Given the description of an element on the screen output the (x, y) to click on. 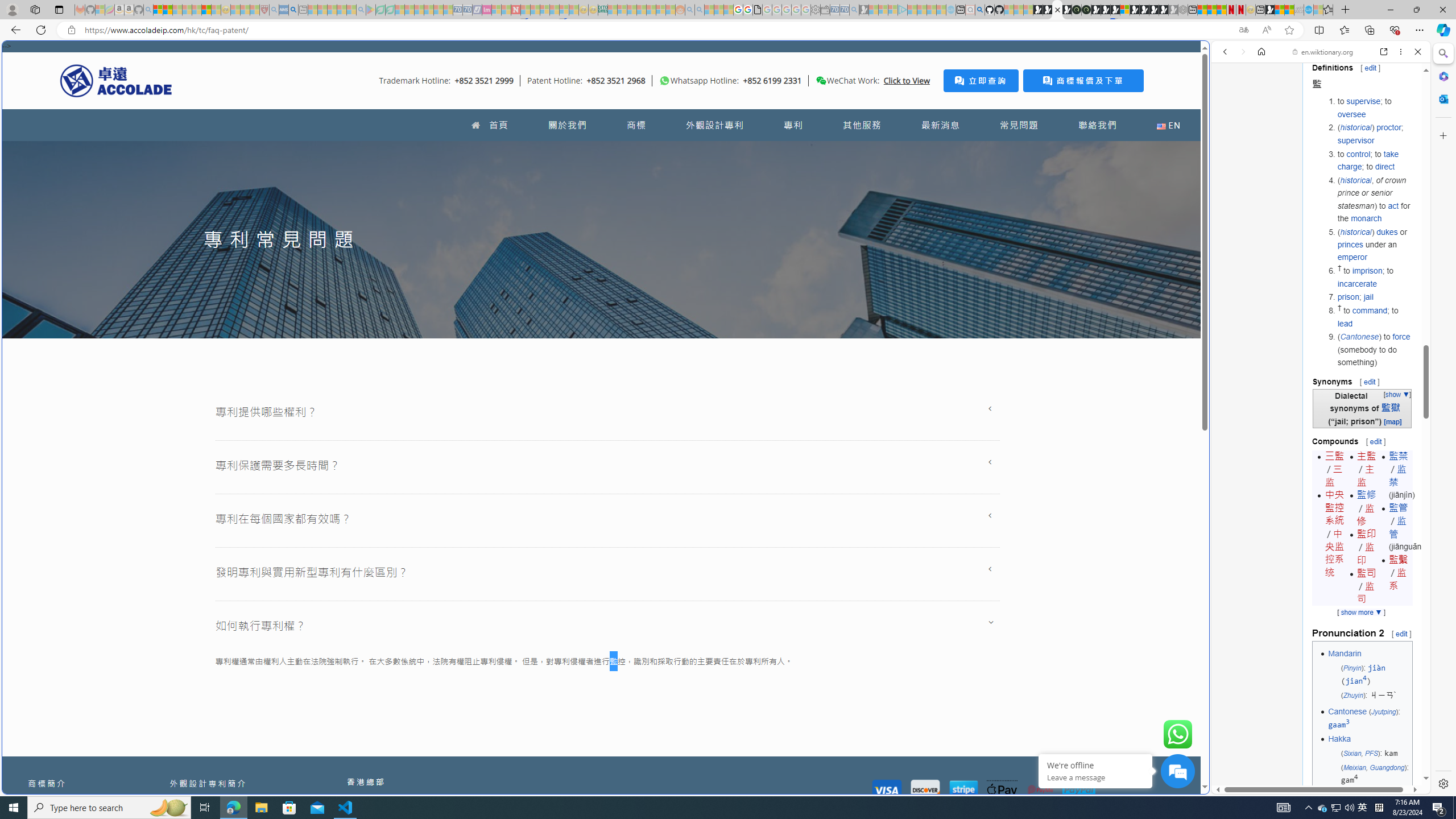
[map] (1392, 420)
